Given the description of an element on the screen output the (x, y) to click on. 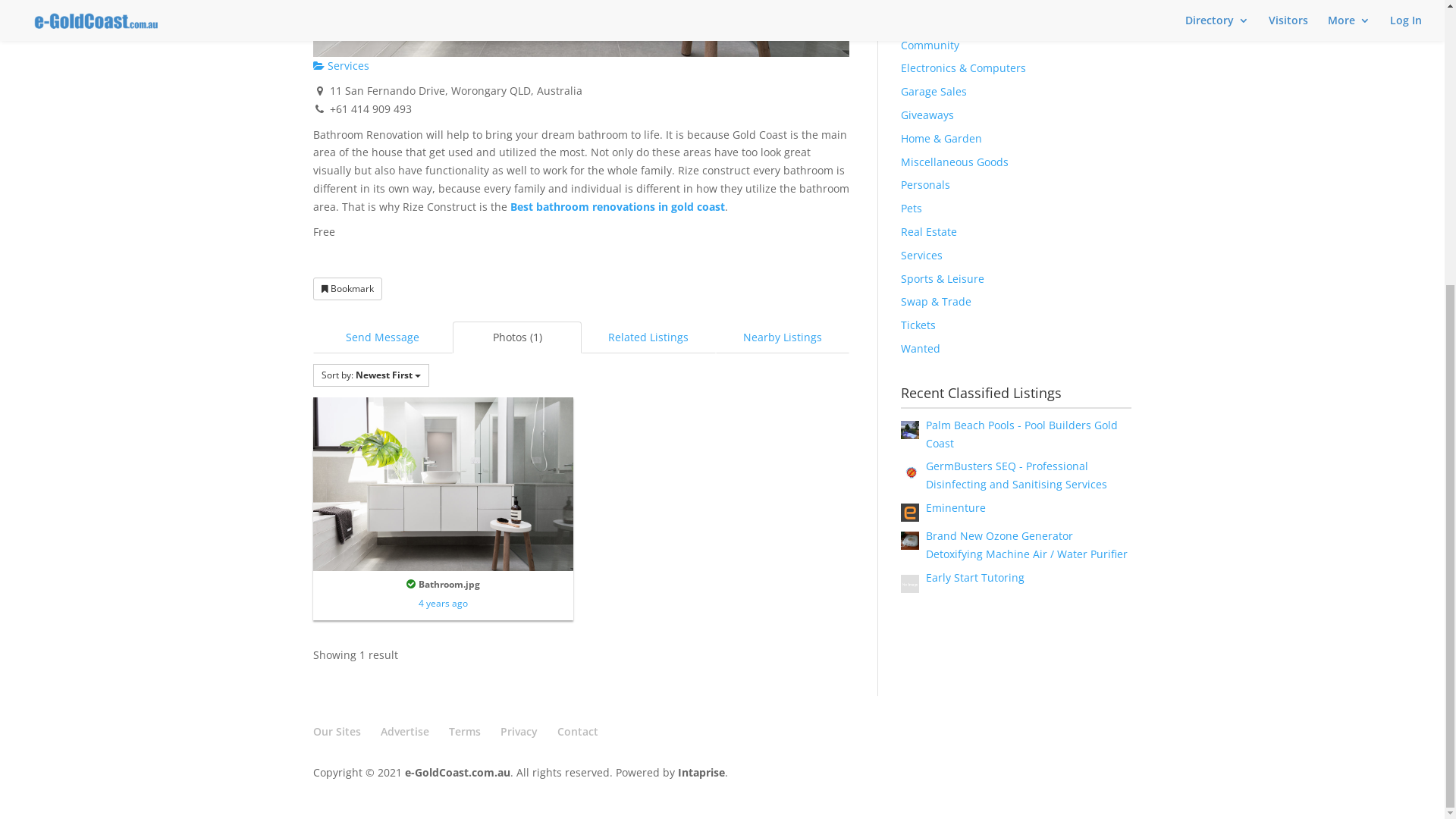
Books, Games & Media Element type: text (958, 404)
Sort by: Newest First Element type: text (370, 804)
Giveaways Element type: text (926, 544)
Best bathroom renovations in gold coast Element type: text (616, 636)
Visitors Element type: text (1288, 457)
Tickets Element type: text (917, 754)
Services Element type: text (921, 684)
Electronics & Computers Element type: text (963, 497)
Related Listings Element type: text (648, 767)
Automotive Element type: text (929, 334)
Sports & Leisure Element type: text (942, 708)
Advertisement Element type: hover (1016, 154)
Real Estate Element type: text (928, 661)
Send Message Element type: text (381, 767)
Community Element type: text (929, 474)
Services Element type: text (340, 495)
Clothing & Jewellery Element type: text (951, 451)
Miscellaneous Goods Element type: text (954, 591)
Log In Element type: text (1405, 457)
Antiques, Art & Collectables Element type: text (971, 311)
Home & Garden Element type: text (941, 568)
Baby, Kids & Maternity Element type: text (958, 358)
Personals Element type: text (925, 614)
Bookmark Element type: text (346, 718)
Swap & Trade Element type: text (935, 731)
Photos (1) Element type: text (516, 767)
Directory Element type: text (1216, 457)
Garage Sales Element type: text (933, 521)
Business & Industrial Element type: text (954, 427)
Wanted Element type: text (920, 778)
Nearby Listings Element type: text (782, 767)
Boating Element type: text (919, 380)
More Element type: text (1348, 457)
Pets Element type: text (911, 637)
